Given the description of an element on the screen output the (x, y) to click on. 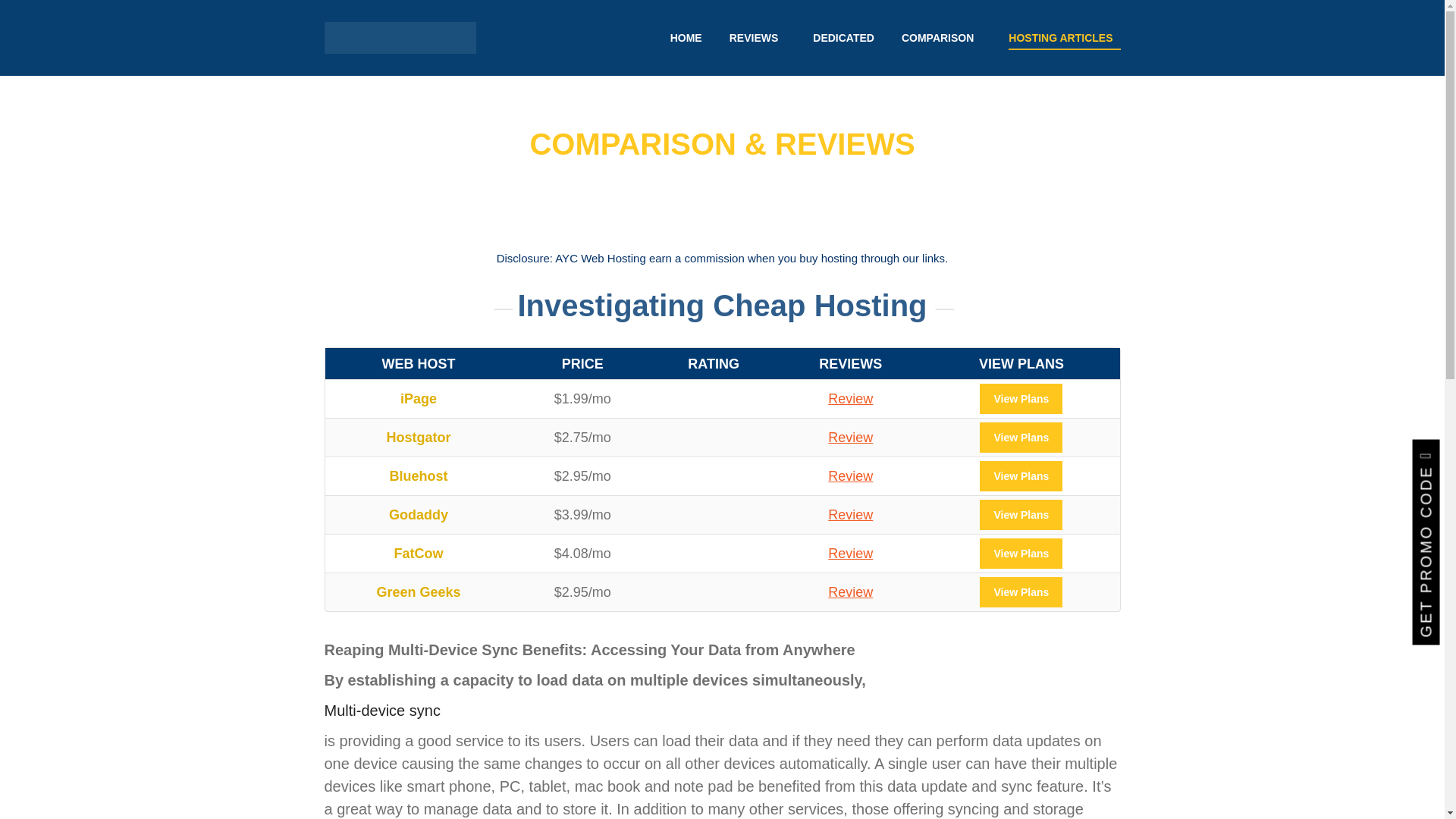
REVIEWS (757, 37)
HOSTING ARTICLES (1064, 37)
COMPARISON (941, 37)
DEDICATED (843, 37)
